Given the description of an element on the screen output the (x, y) to click on. 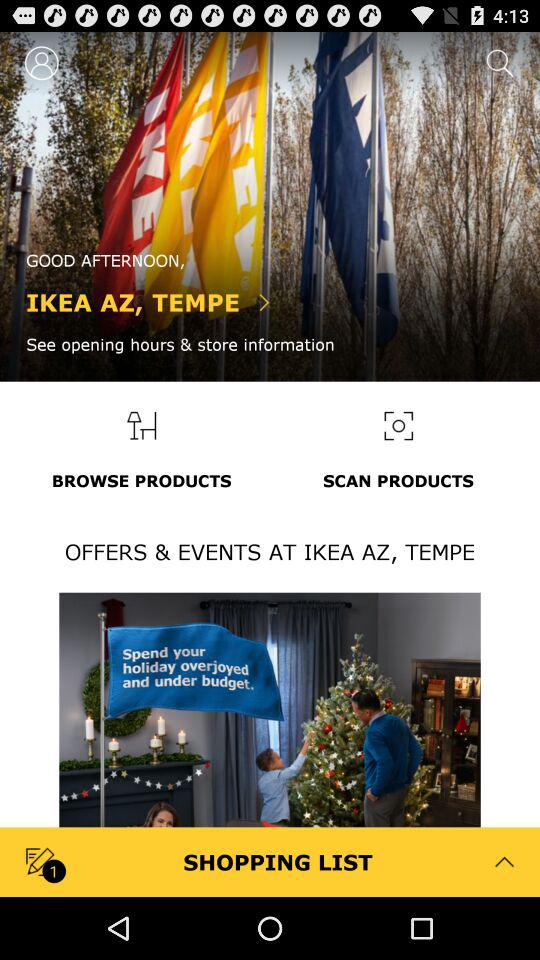
click on the text ikea aztempe  (179, 333)
click on the search icon (497, 62)
select the icon which is above browse products (141, 425)
select edit icon at bottom left side of the page (42, 861)
